Given the description of an element on the screen output the (x, y) to click on. 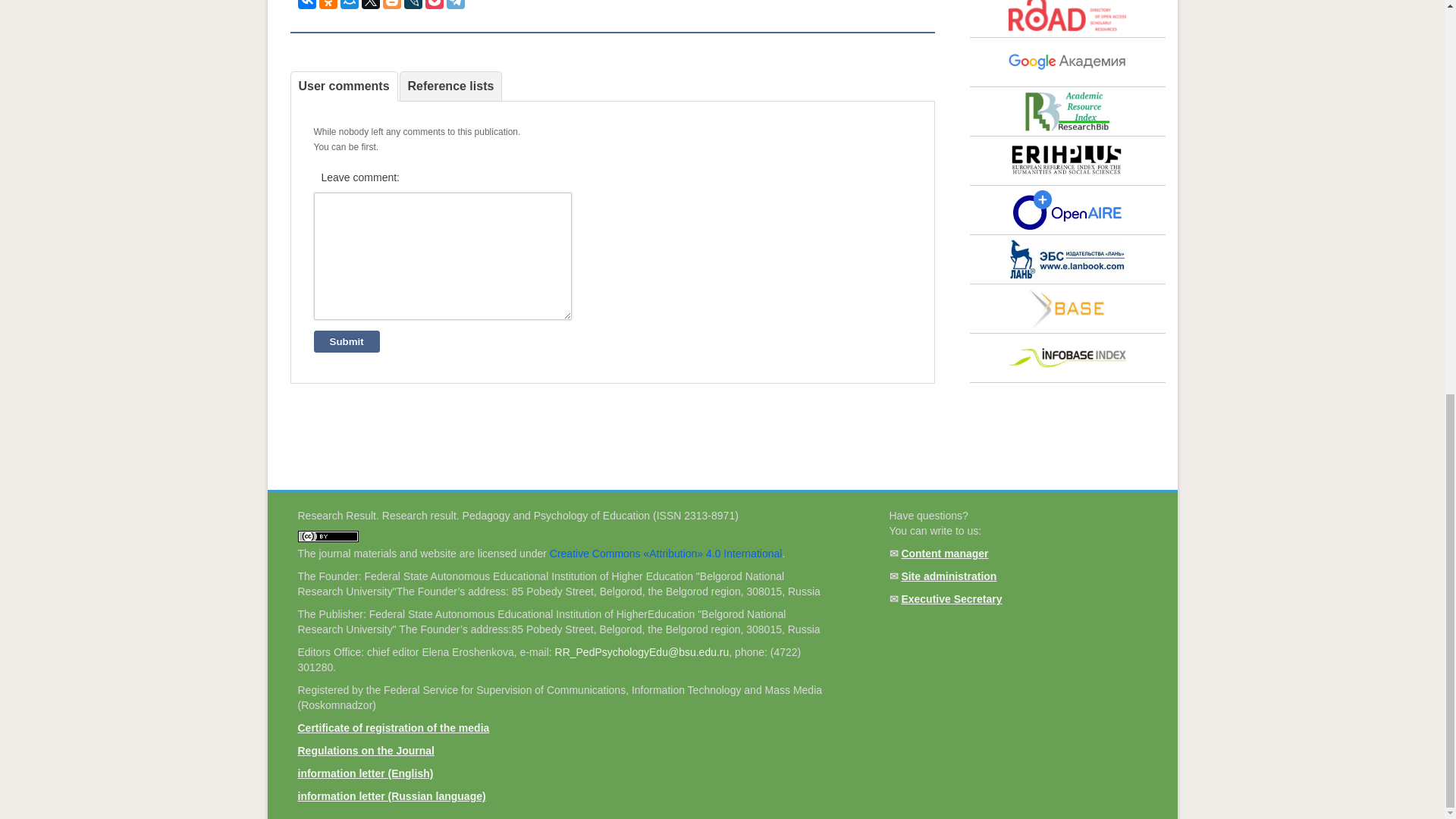
Pocket (433, 4)
Telegram (454, 4)
LiveJournal (412, 4)
Twitter (369, 4)
Blogger (390, 4)
